Given the description of an element on the screen output the (x, y) to click on. 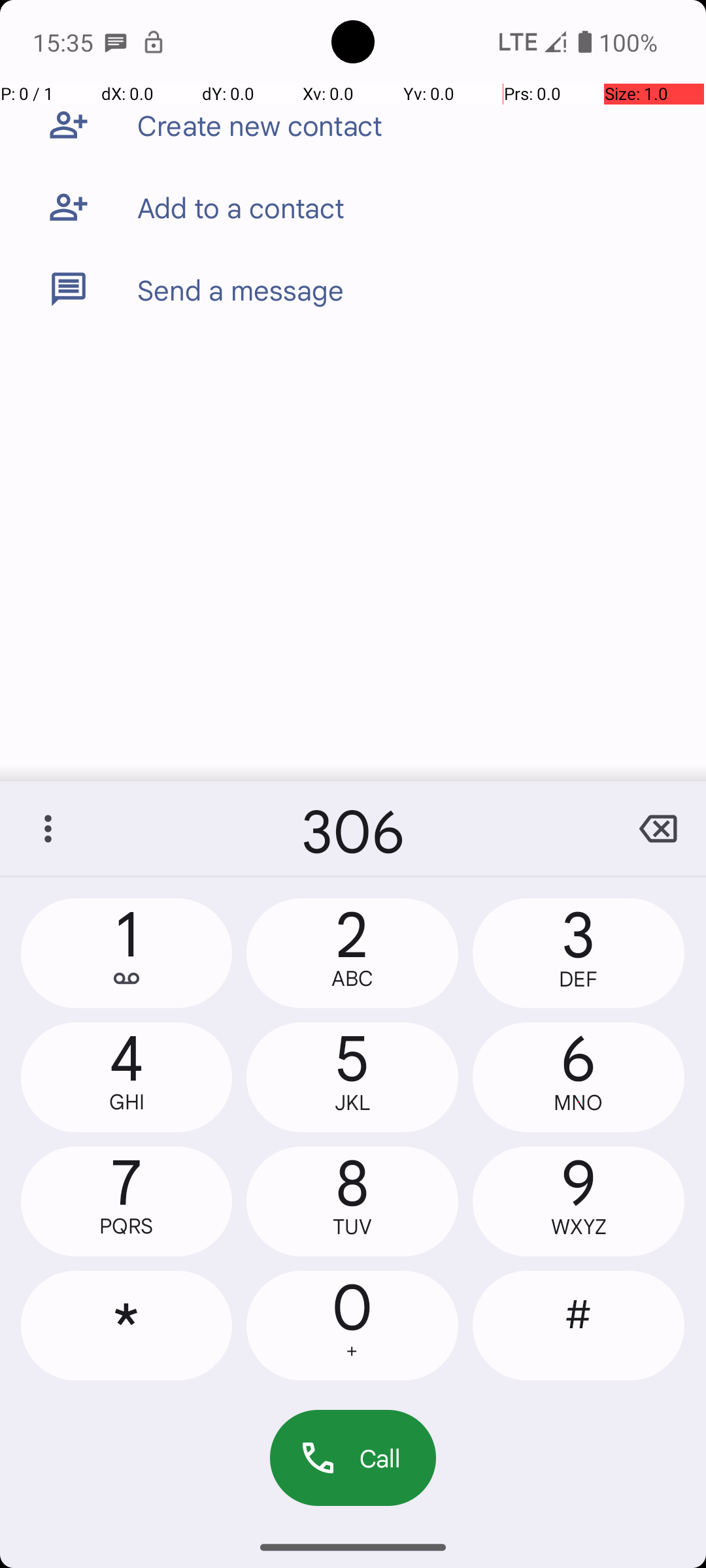
306 Element type: android.widget.EditText (352, 828)
backspace Element type: android.widget.ImageButton (657, 828)
1, Element type: android.widget.FrameLayout (126, 953)
2,ABC Element type: android.widget.FrameLayout (352, 953)
3,DEF Element type: android.widget.FrameLayout (578, 953)
4,GHI Element type: android.widget.FrameLayout (126, 1077)
5,JKL Element type: android.widget.FrameLayout (352, 1077)
6,MNO Element type: android.widget.FrameLayout (578, 1077)
7,PQRS Element type: android.widget.FrameLayout (126, 1201)
8,TUV Element type: android.widget.FrameLayout (352, 1201)
9,WXYZ Element type: android.widget.FrameLayout (578, 1201)
* Element type: android.widget.FrameLayout (126, 1325)
ABC Element type: android.widget.TextView (351, 978)
DEF Element type: android.widget.TextView (578, 978)
GHI Element type: android.widget.TextView (126, 1101)
JKL Element type: android.widget.TextView (351, 1102)
MNO Element type: android.widget.TextView (578, 1102)
PQRS Element type: android.widget.TextView (126, 1225)
TUV Element type: android.widget.TextView (351, 1226)
WXYZ Element type: android.widget.TextView (578, 1226)
+ Element type: android.widget.TextView (351, 1351)
Create new contact Element type: android.widget.TextView (260, 124)
Add to a contact Element type: android.widget.TextView (240, 206)
Send a message Element type: android.widget.TextView (240, 289)
Tasks notification: Connection security Element type: android.widget.ImageView (153, 41)
